Given the description of an element on the screen output the (x, y) to click on. 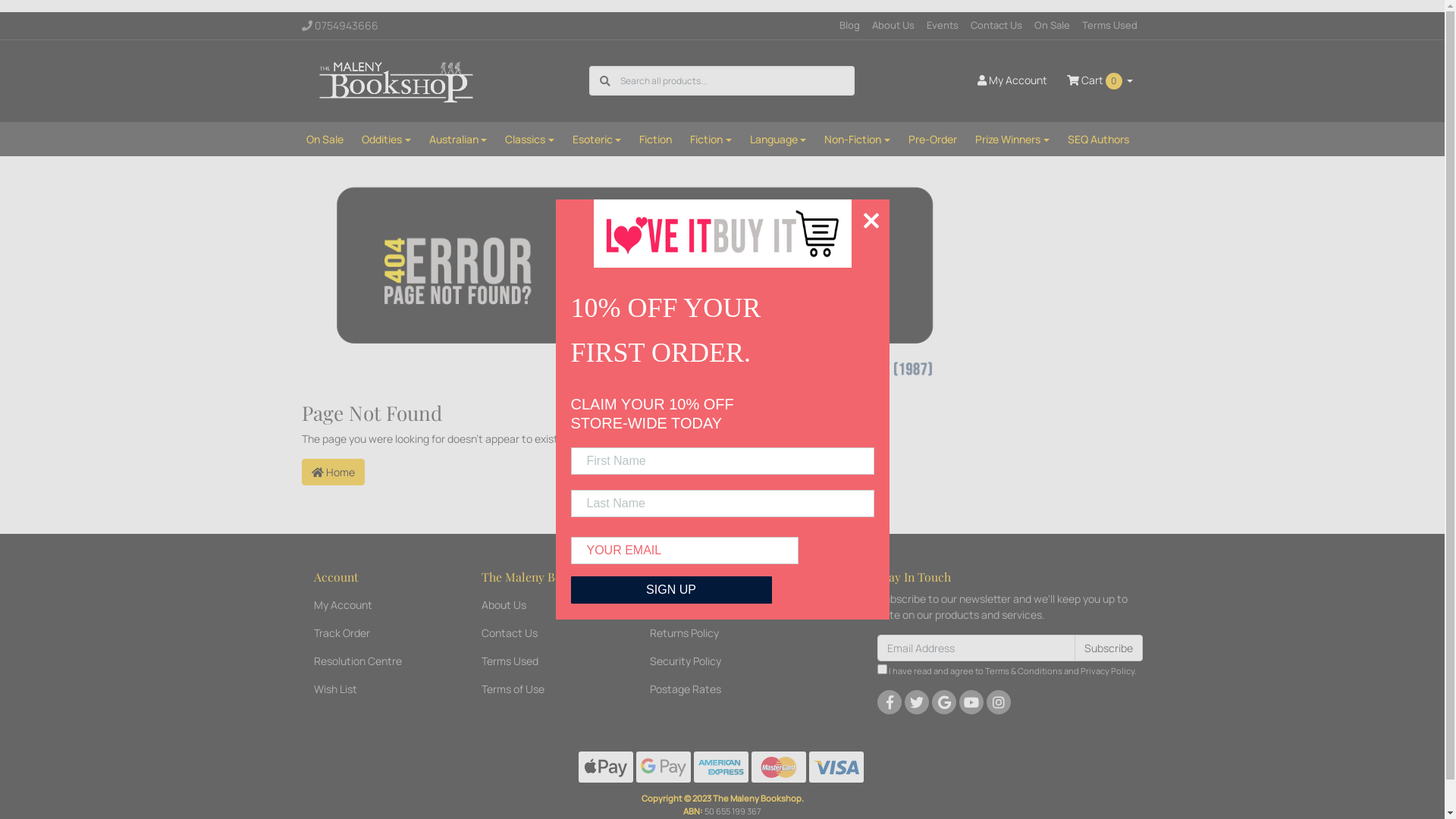
SEQ Authors Element type: text (1098, 139)
Youtube Element type: text (971, 701)
Events Element type: text (942, 25)
Fiction Element type: text (655, 139)
Non-Fiction Element type: text (857, 139)
Terms of Use Element type: text (542, 688)
Fiction Element type: text (710, 139)
My Account Element type: text (374, 604)
Classics Element type: text (529, 139)
Instagram Element type: text (998, 701)
Oddities Element type: text (386, 139)
Security Policy Element type: text (710, 660)
Contact Us Element type: text (996, 25)
Returns Policy Element type: text (710, 632)
Esoteric Element type: text (596, 139)
About Us Element type: text (893, 25)
Track Order Element type: text (374, 632)
Home Element type: text (332, 471)
My Account Element type: text (1012, 80)
Prize Winners Element type: text (1012, 139)
Terms Used Element type: text (1108, 25)
Postage Rates Element type: text (710, 688)
Pre-Order Element type: text (932, 139)
On Sale Element type: text (324, 139)
Resolution Centre Element type: text (374, 660)
Privacy Policy Element type: text (710, 604)
Terms Used Element type: text (542, 660)
About Us Element type: text (542, 604)
Privacy Policy Element type: text (1107, 670)
Facebook Element type: text (889, 701)
Search Element type: text (604, 80)
Cart 0 Element type: text (1100, 80)
Wish List Element type: text (374, 688)
Terms & Conditions Element type: text (1023, 670)
Contact Us Element type: text (542, 632)
0754943666 Element type: text (357, 25)
On Sale Element type: text (1052, 25)
Australian Element type: text (458, 139)
Language Element type: text (777, 139)
The Maleny Bookshop Home Page Element type: hover (638, 281)
Subscribe Element type: text (1108, 647)
Google Element type: text (943, 701)
The Maleny Bookshop Element type: hover (398, 79)
Blog Element type: text (848, 25)
Twitter Element type: text (916, 701)
